Given the description of an element on the screen output the (x, y) to click on. 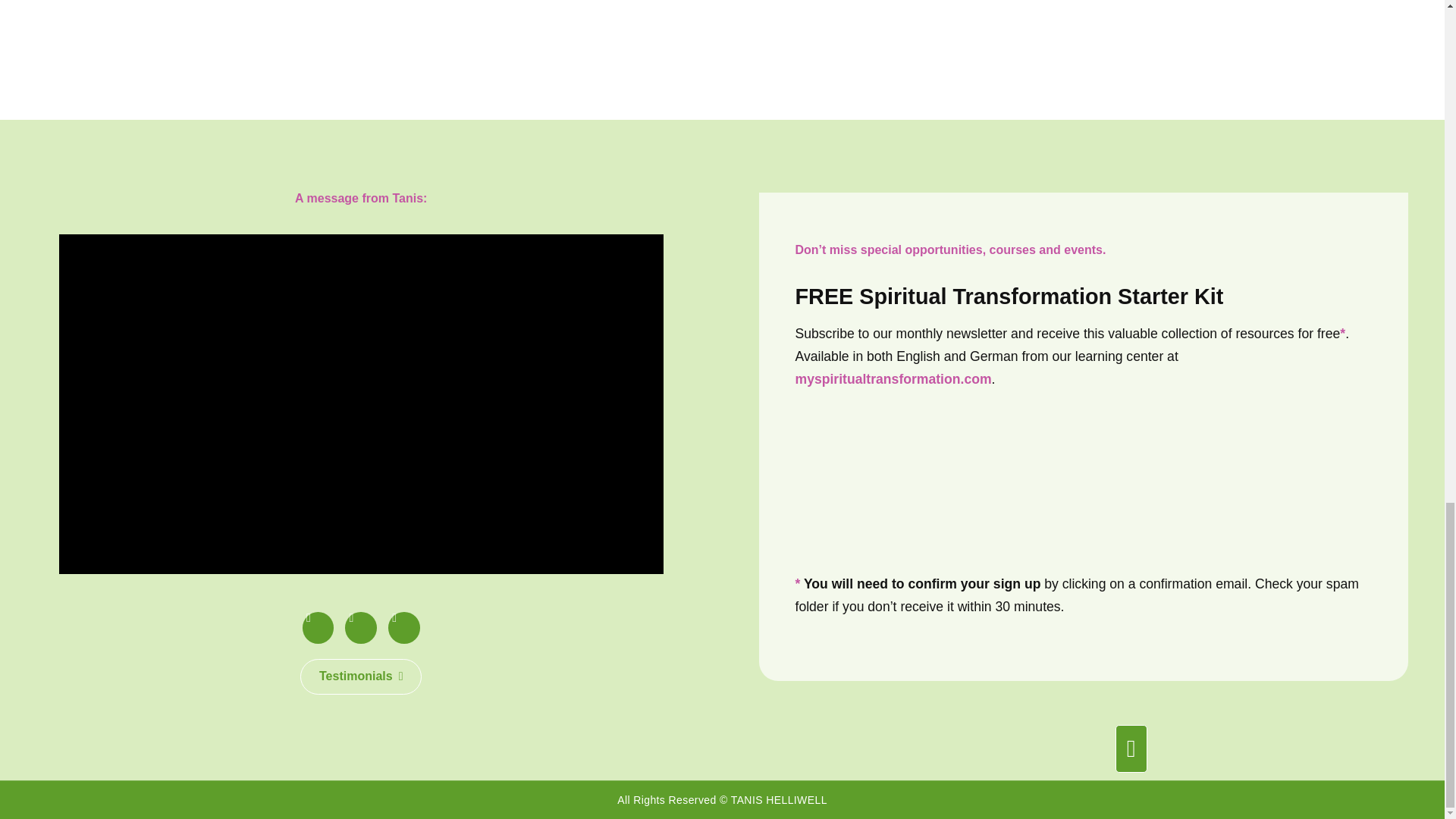
Testimonials (360, 676)
myspiritualtransformation.com (892, 378)
